Given the description of an element on the screen output the (x, y) to click on. 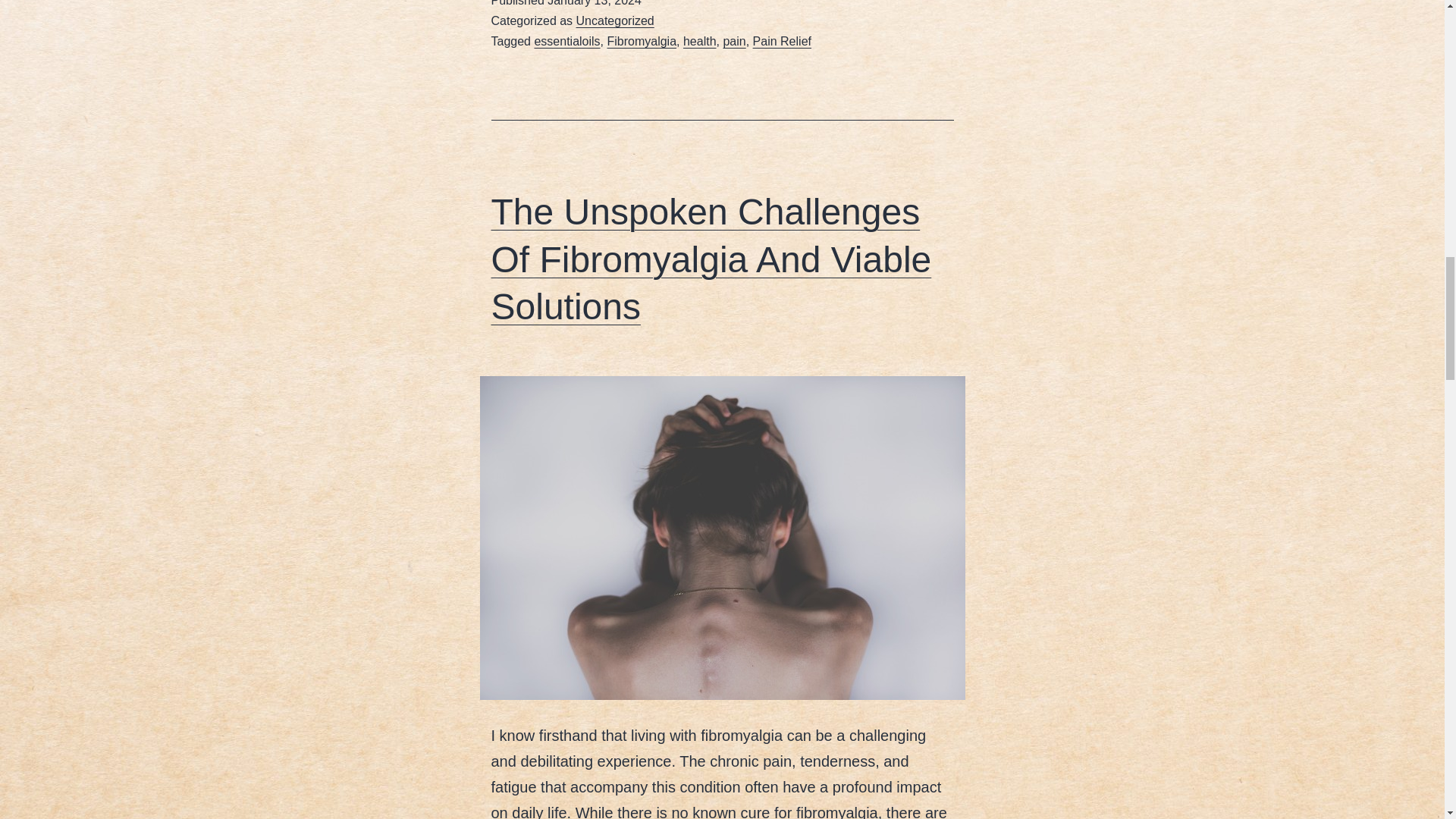
The Unspoken Challenges Of Fibromyalgia And Viable Solutions (711, 258)
Uncategorized (614, 20)
Pain Relief (781, 41)
essentialoils (566, 41)
health (699, 41)
pain (733, 41)
Fibromyalgia (642, 41)
